Given the description of an element on the screen output the (x, y) to click on. 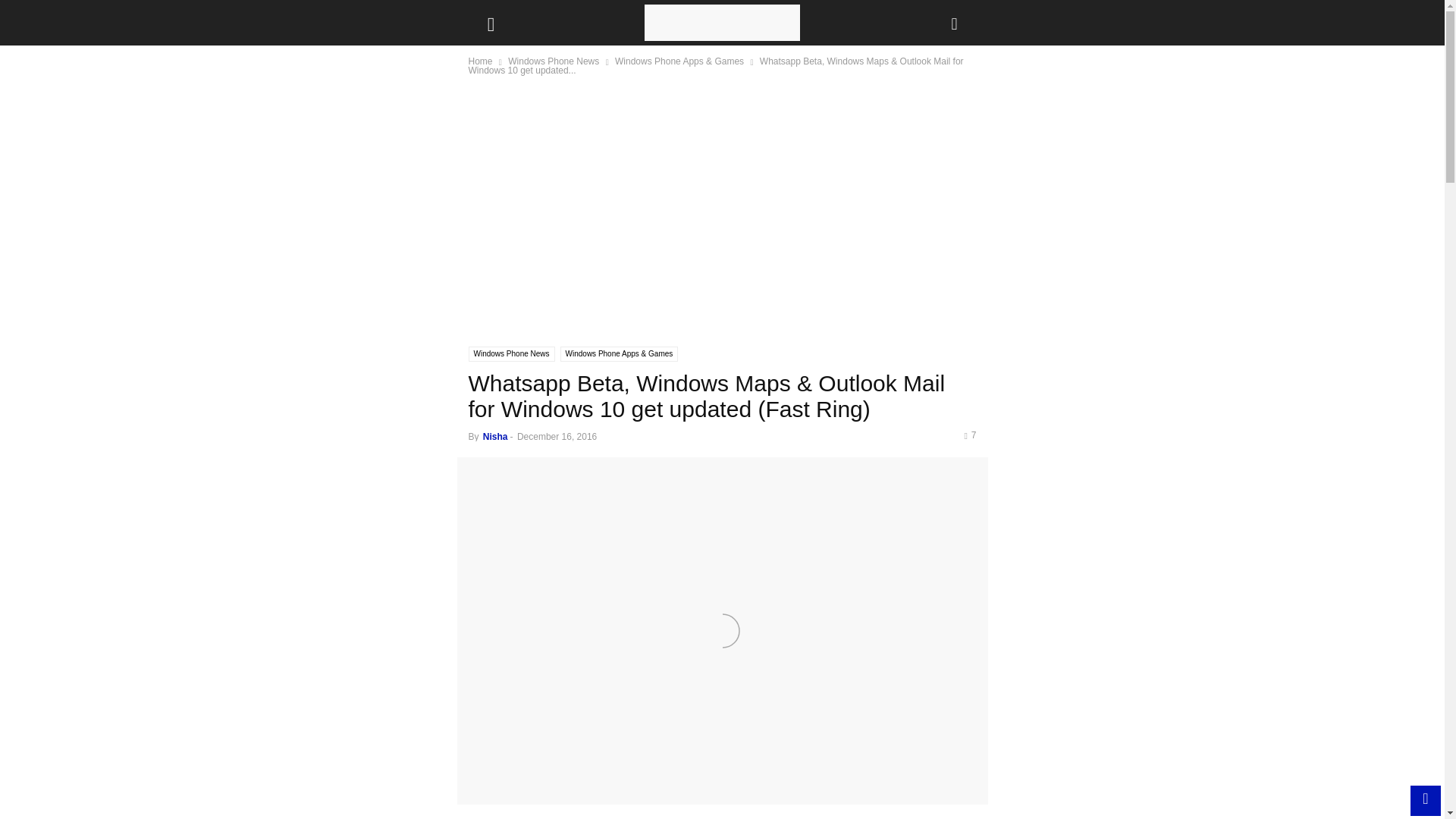
3rd party ad content (722, 218)
Nokiapoweruser logo (722, 22)
Windows Phone News (553, 61)
Home (480, 61)
Windows Phone News (511, 353)
7 (969, 434)
Nisha (495, 436)
View all posts in Windows Phone News (553, 61)
